Given the description of an element on the screen output the (x, y) to click on. 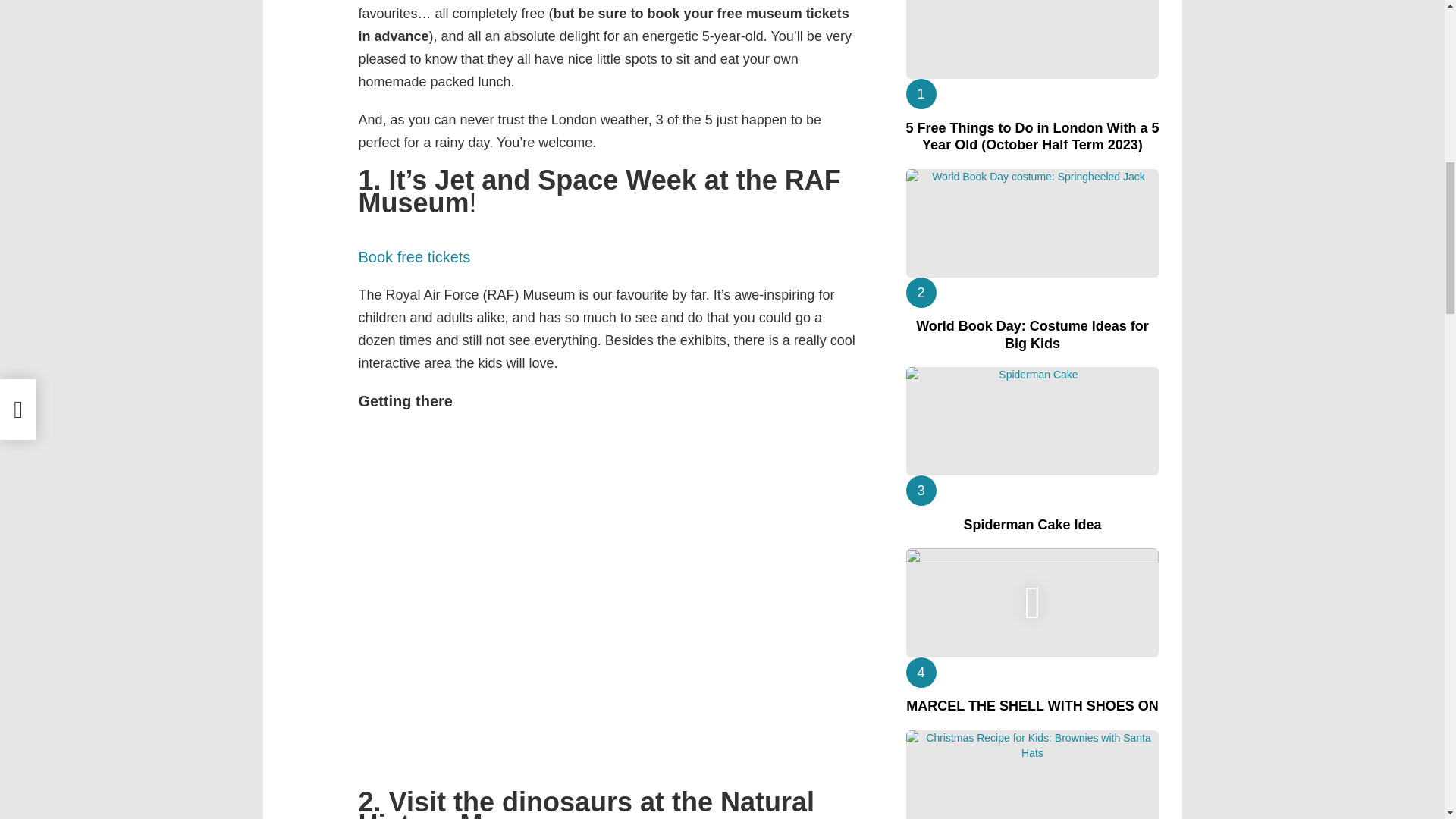
Spiderman Cake Idea (1031, 420)
World Book Day: Costume Ideas for Big Kids (1031, 222)
Book free tickets (414, 256)
